Given the description of an element on the screen output the (x, y) to click on. 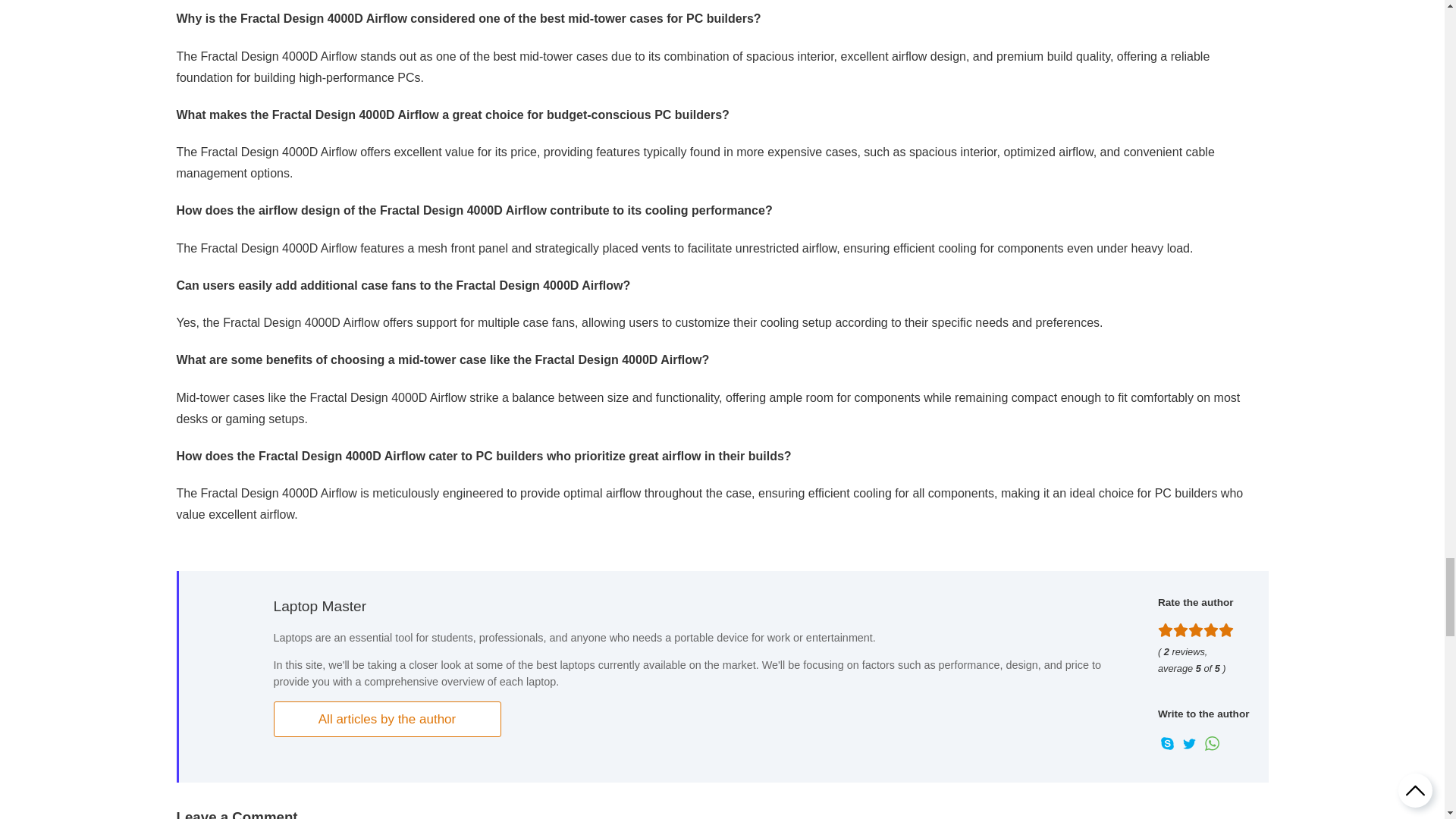
All articles by the author (386, 719)
